Given the description of an element on the screen output the (x, y) to click on. 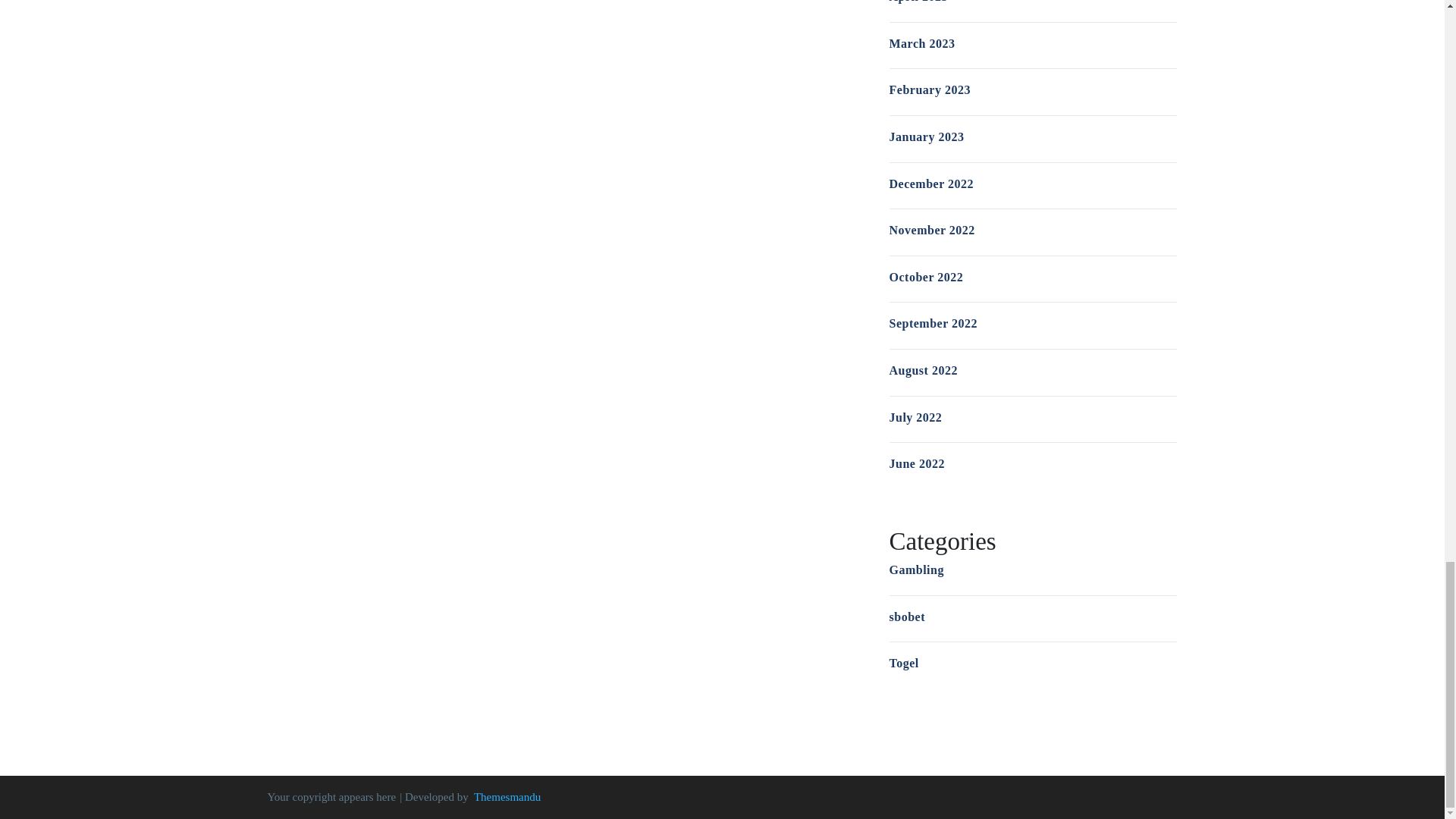
September 2022 (932, 323)
December 2022 (931, 183)
November 2022 (931, 229)
July 2022 (915, 417)
April 2023 (917, 1)
February 2023 (928, 89)
January 2023 (925, 136)
August 2022 (922, 369)
October 2022 (925, 277)
March 2023 (921, 42)
